Given the description of an element on the screen output the (x, y) to click on. 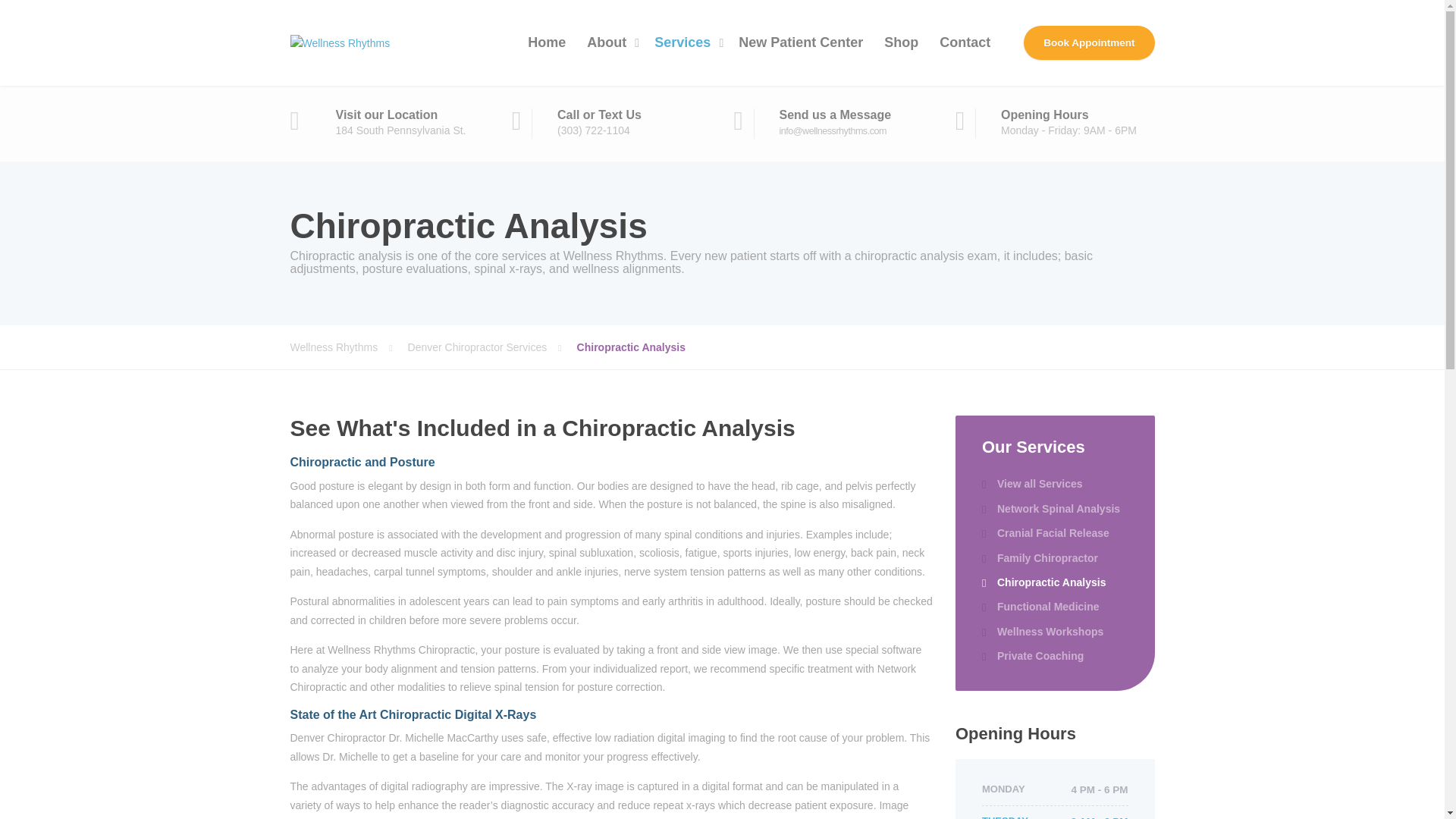
New Patient Center (800, 42)
Wellness Rhythms (339, 42)
Functional Medicine (1040, 606)
Network Spinal Analysis (1050, 508)
Wellness Workshops (1042, 631)
View all Services (1032, 483)
Services (685, 42)
Wellness Rhythms (348, 347)
Private Coaching (1032, 655)
Chiropractic Analysis (1043, 582)
